Given the description of an element on the screen output the (x, y) to click on. 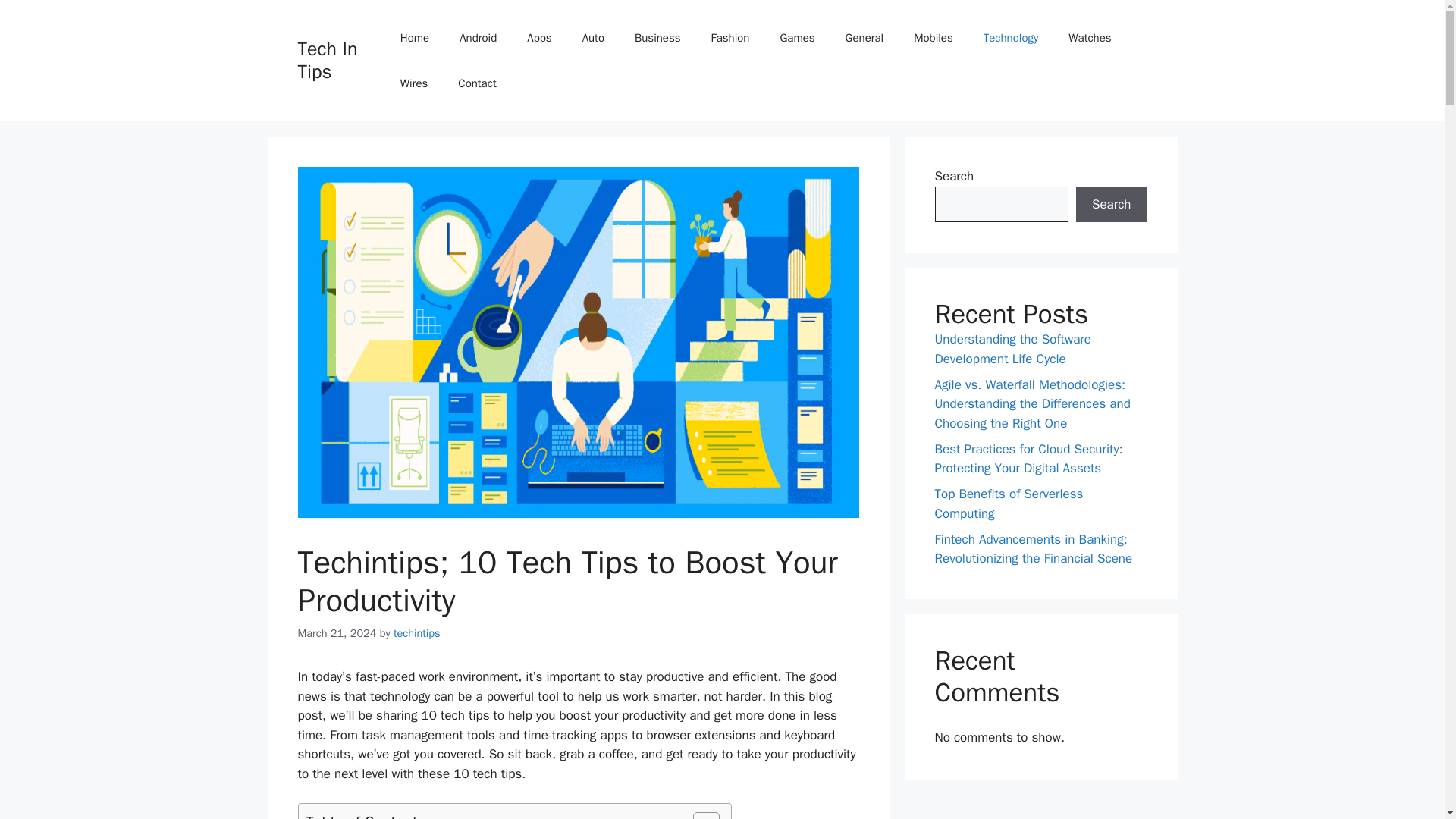
View all posts by techintips (417, 632)
Apps (539, 37)
Technology (1011, 37)
Contact (476, 83)
Tech In Tips (326, 59)
Watches (1088, 37)
Fashion (730, 37)
Mobiles (933, 37)
Business (657, 37)
